Given the description of an element on the screen output the (x, y) to click on. 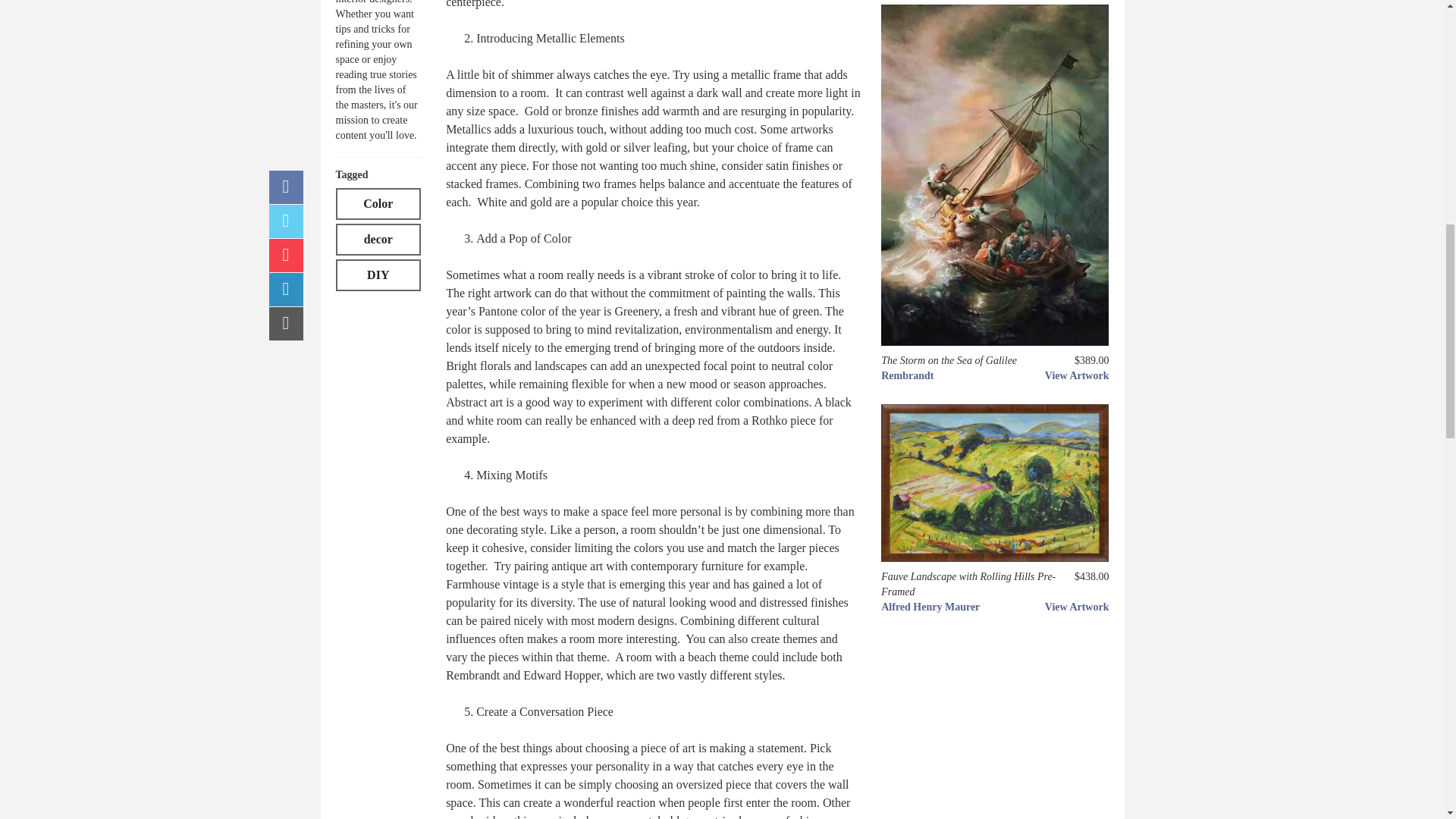
DIY (377, 275)
decor (377, 239)
Color (377, 204)
